Given the description of an element on the screen output the (x, y) to click on. 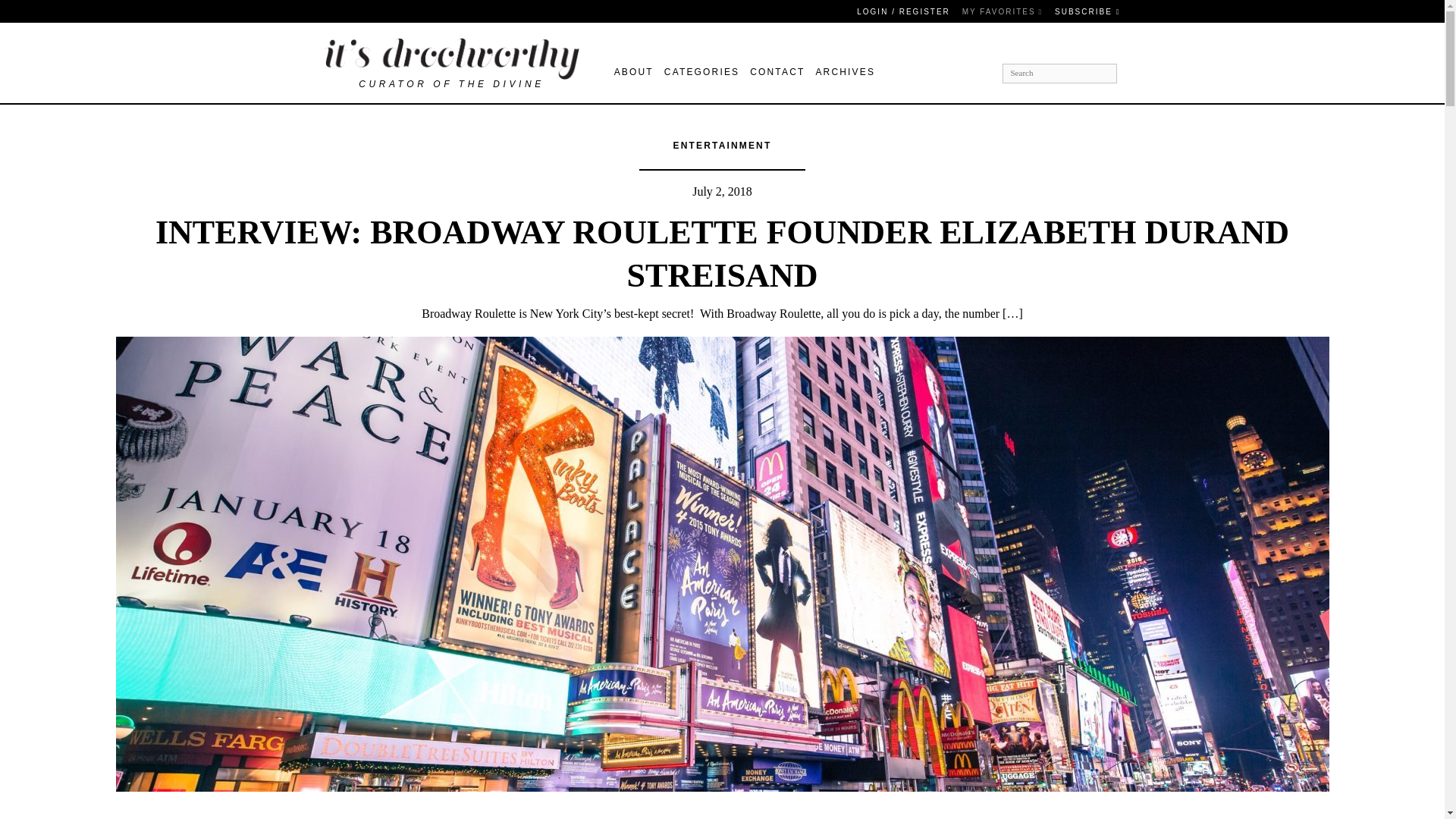
CURATOR OF THE DIVINE (451, 62)
ENTERTAINMENT (721, 145)
ARCHIVES (845, 72)
CONTACT (779, 72)
REGISTER (924, 11)
CATEGORIES (704, 72)
MY FAVORITES (1002, 11)
ABOUT (637, 72)
SUBSCRIBE (1086, 11)
